Given the description of an element on the screen output the (x, y) to click on. 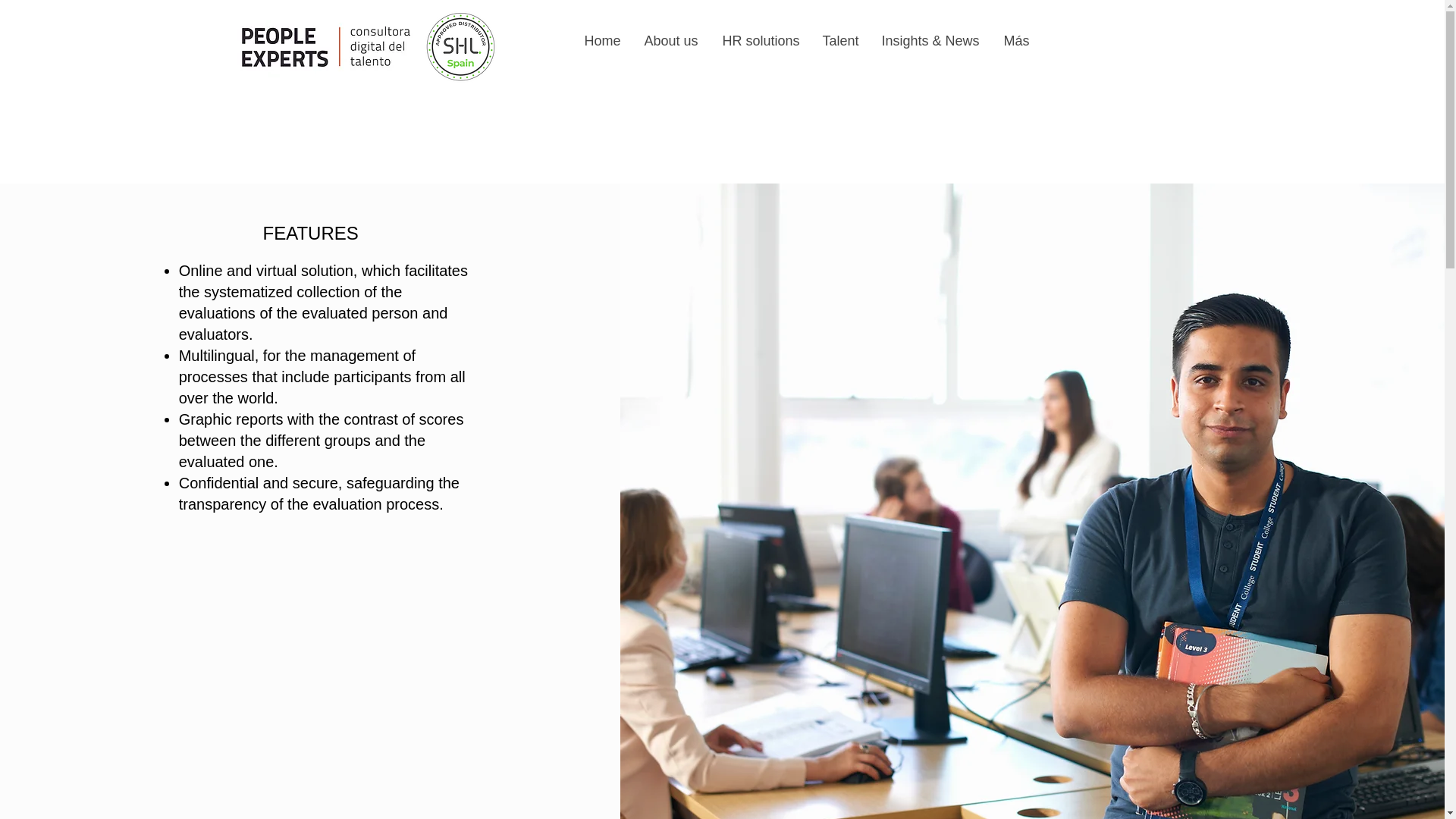
About us (670, 41)
Home (602, 41)
HR solutions (759, 41)
Talent (839, 41)
